Given the description of an element on the screen output the (x, y) to click on. 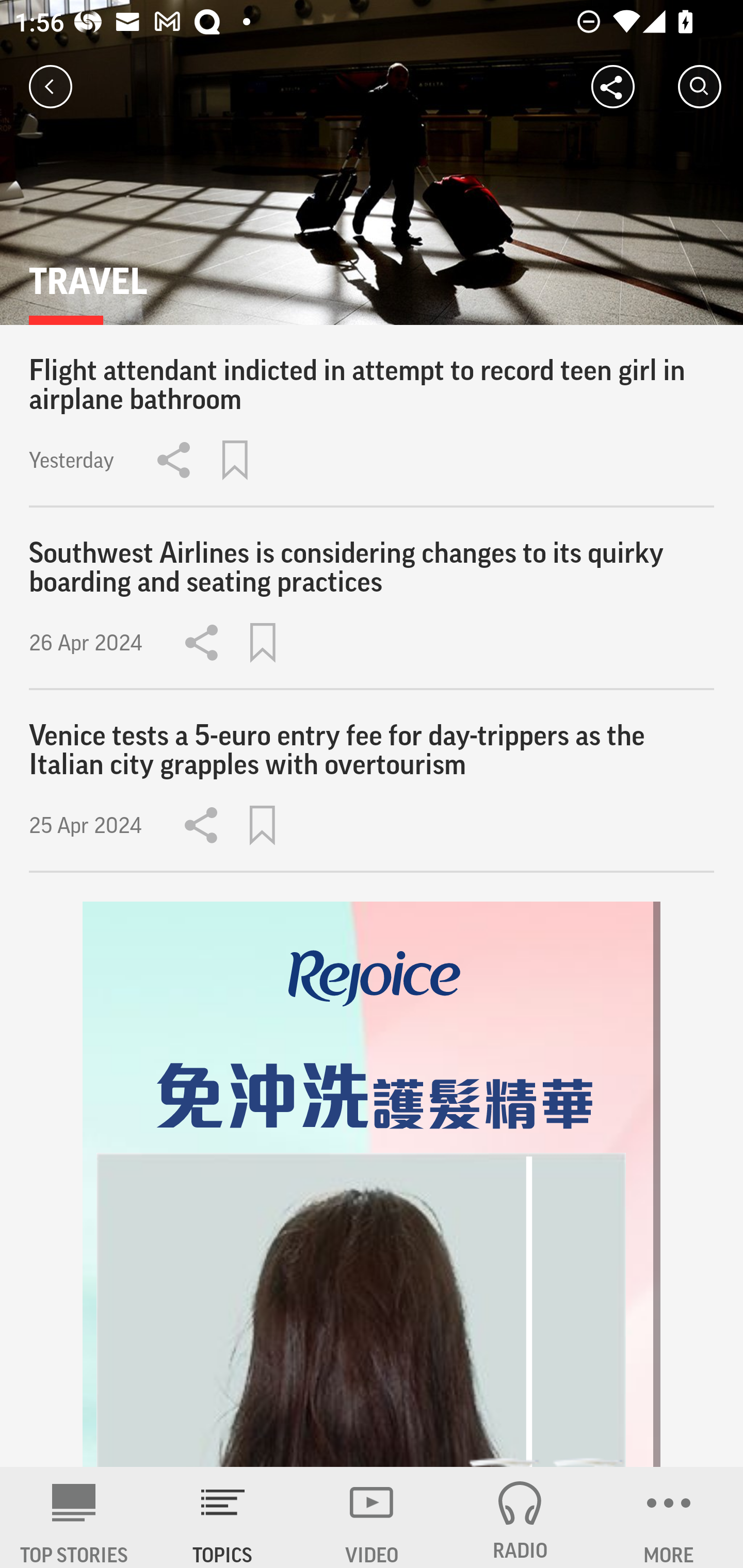
javascript:window.open(window (371, 1184)
AP News TOP STORIES (74, 1517)
TOPICS (222, 1517)
VIDEO (371, 1517)
RADIO (519, 1517)
MORE (668, 1517)
